Given the description of an element on the screen output the (x, y) to click on. 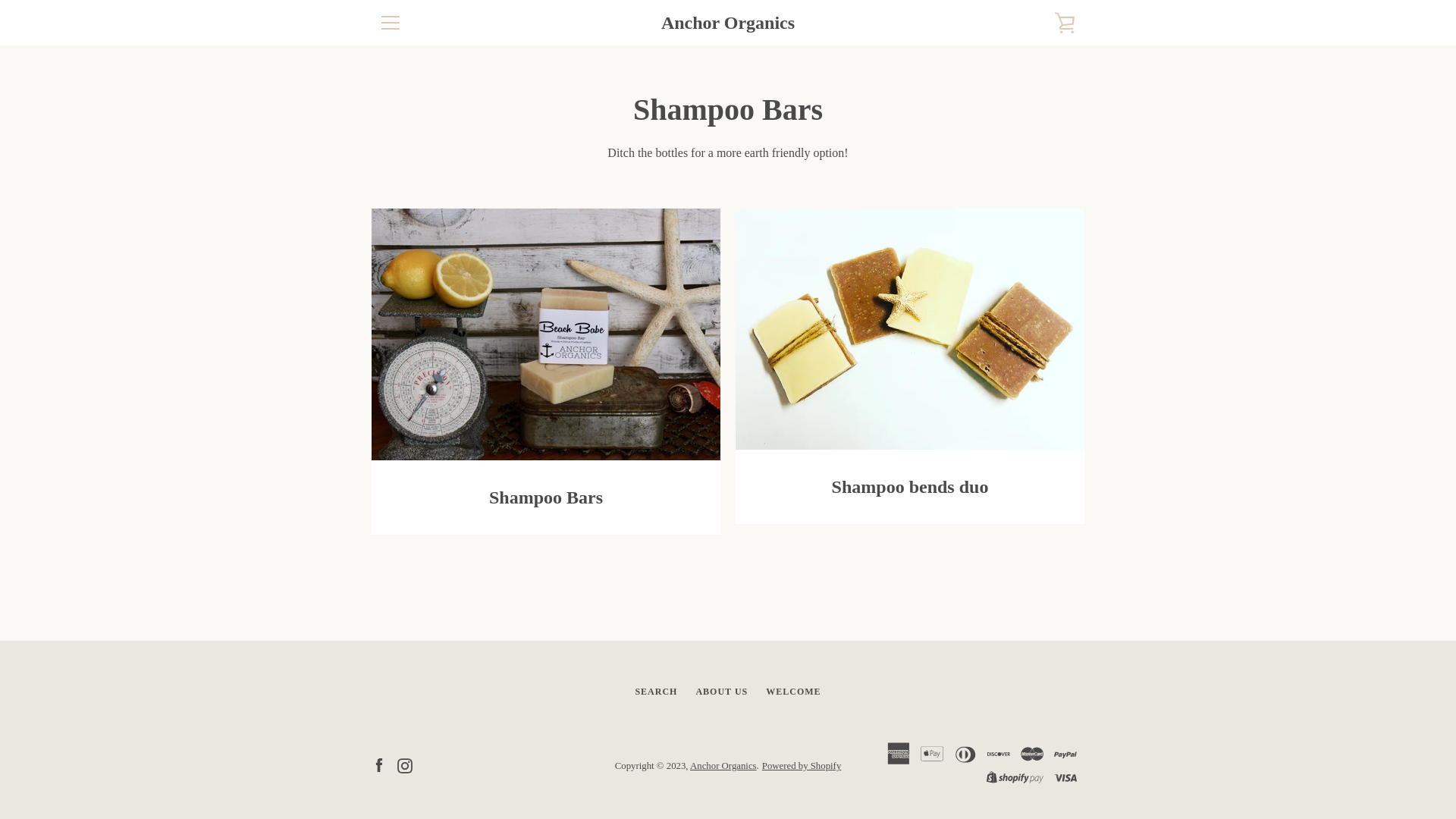
Shampoo Bars Element type: text (545, 371)
VIEW CART Element type: text (1065, 22)
SEARCH Element type: text (655, 691)
WELCOME Element type: text (792, 691)
ABOUT US Element type: text (721, 691)
EXPAND NAVIGATION Element type: text (390, 22)
Shampoo bends duo Element type: text (909, 366)
Facebook Element type: text (378, 764)
Powered by Shopify Element type: text (801, 765)
Skip to content Element type: text (0, 0)
Instagram Element type: text (404, 764)
Anchor Organics Element type: text (727, 23)
Anchor Organics Element type: text (723, 765)
